Given the description of an element on the screen output the (x, y) to click on. 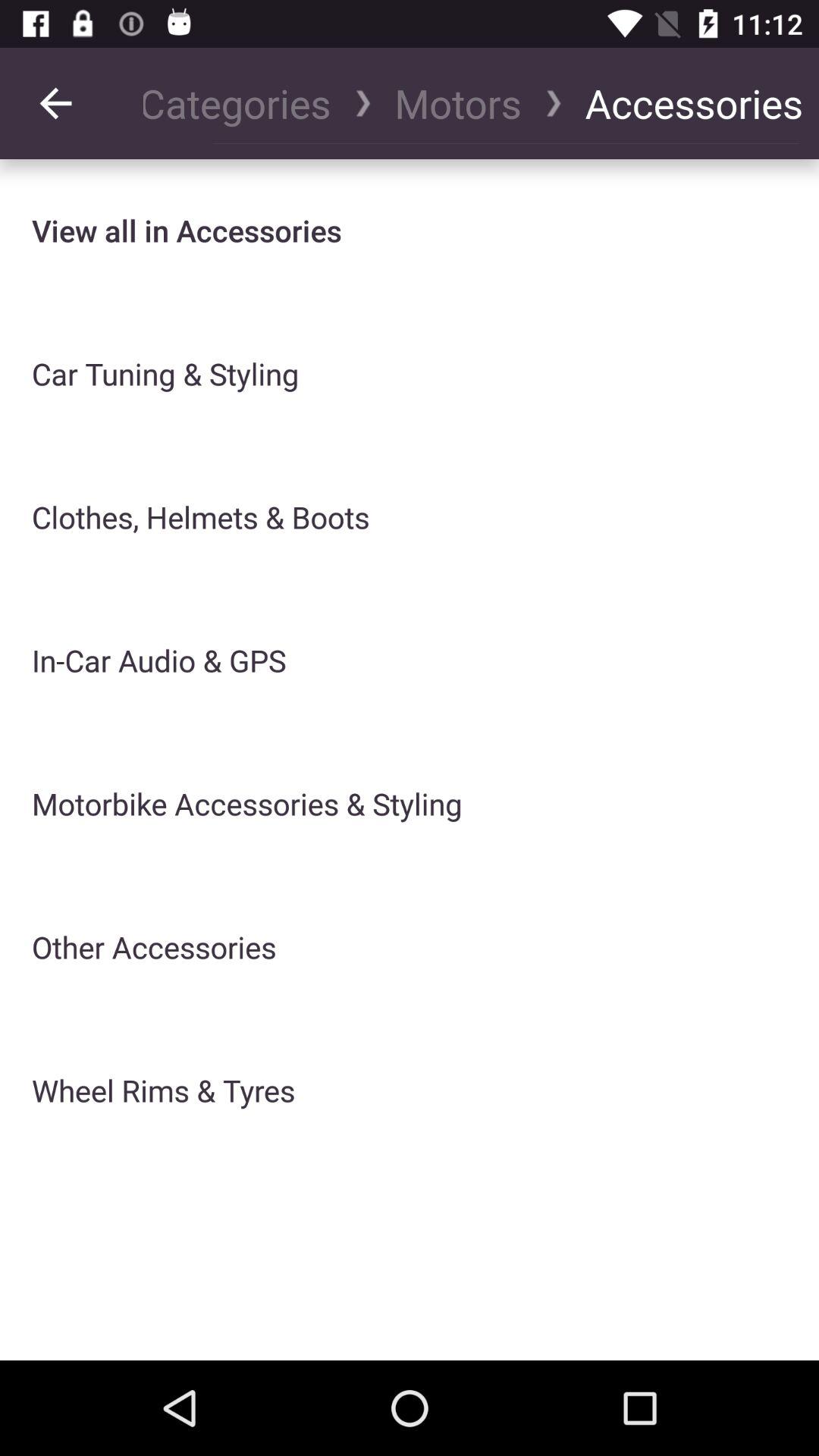
swipe until motorbike accessories & styling (246, 803)
